Given the description of an element on the screen output the (x, y) to click on. 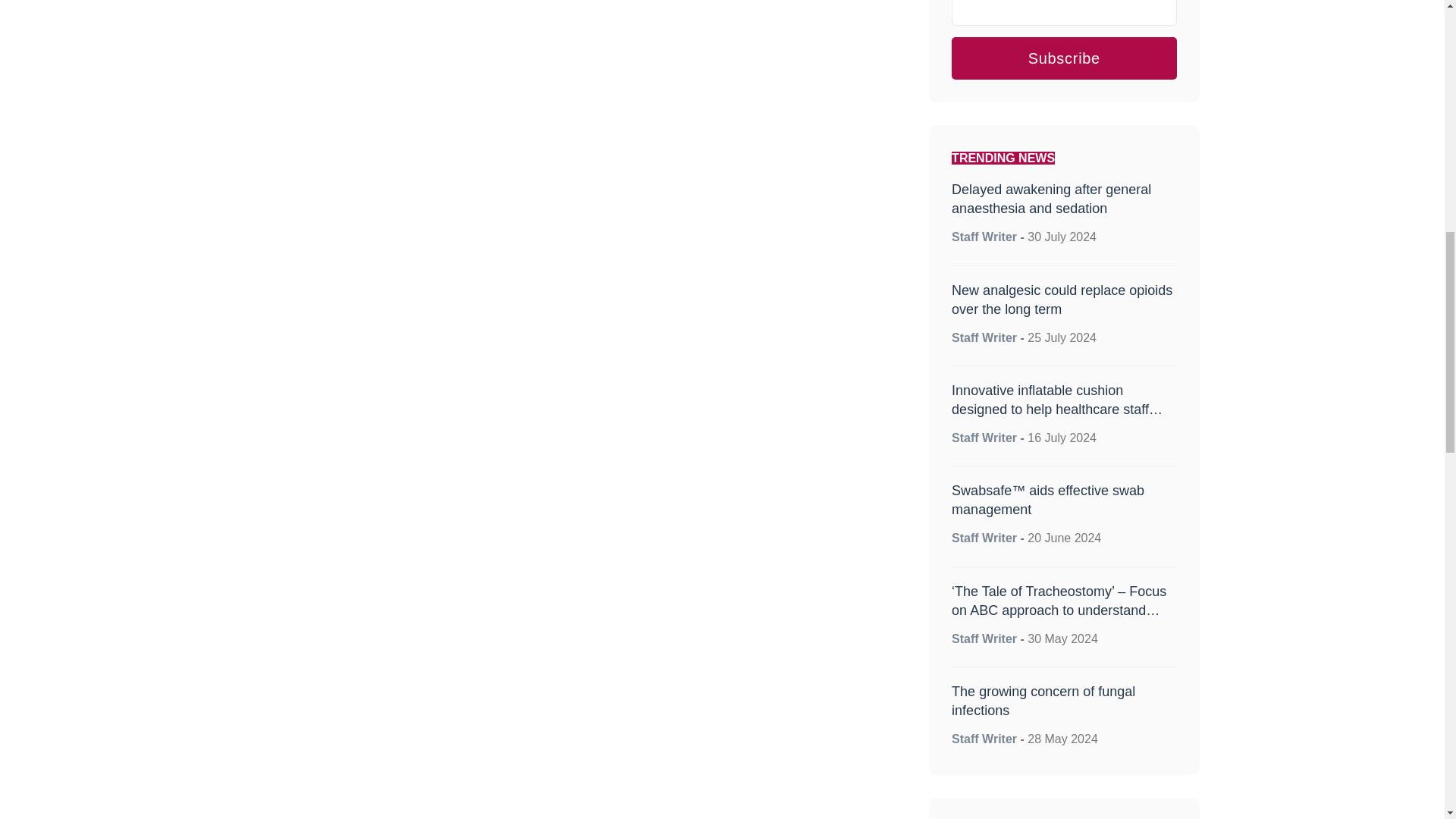
Posts by Staff Writer (984, 236)
Posts by Staff Writer (984, 437)
Posts by Staff Writer (984, 337)
Subscribe (1064, 57)
Posts by Staff Writer (984, 638)
Posts by Staff Writer (984, 537)
Posts by Staff Writer (984, 738)
